Given the description of an element on the screen output the (x, y) to click on. 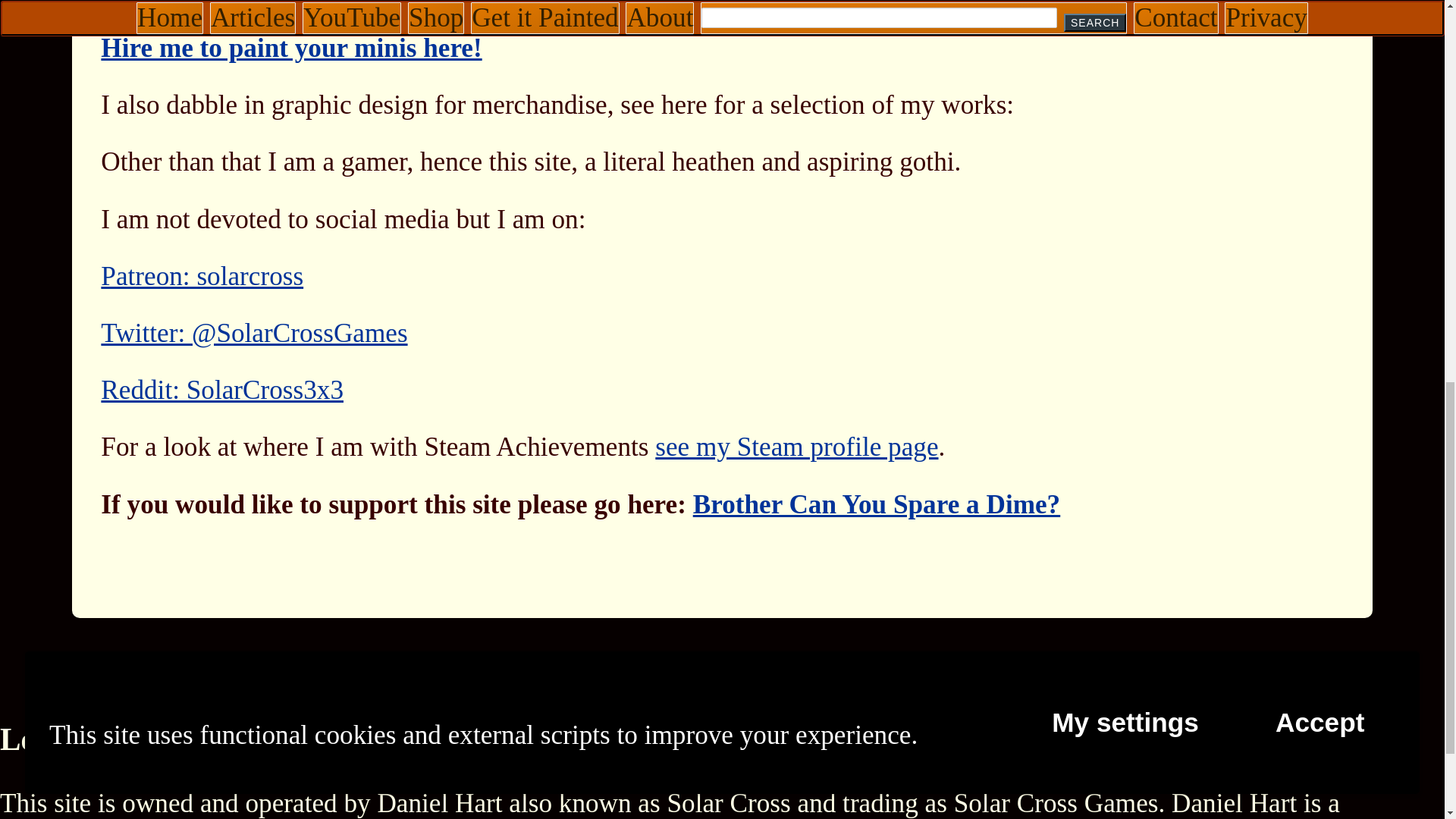
Reddit: SolarCross3x3 (221, 389)
see my Steam profile page (796, 446)
Patreon: solarcross (201, 276)
Brother Can You Spare a Dime? (877, 504)
Hire me to paint your minis here! (290, 48)
